Given the description of an element on the screen output the (x, y) to click on. 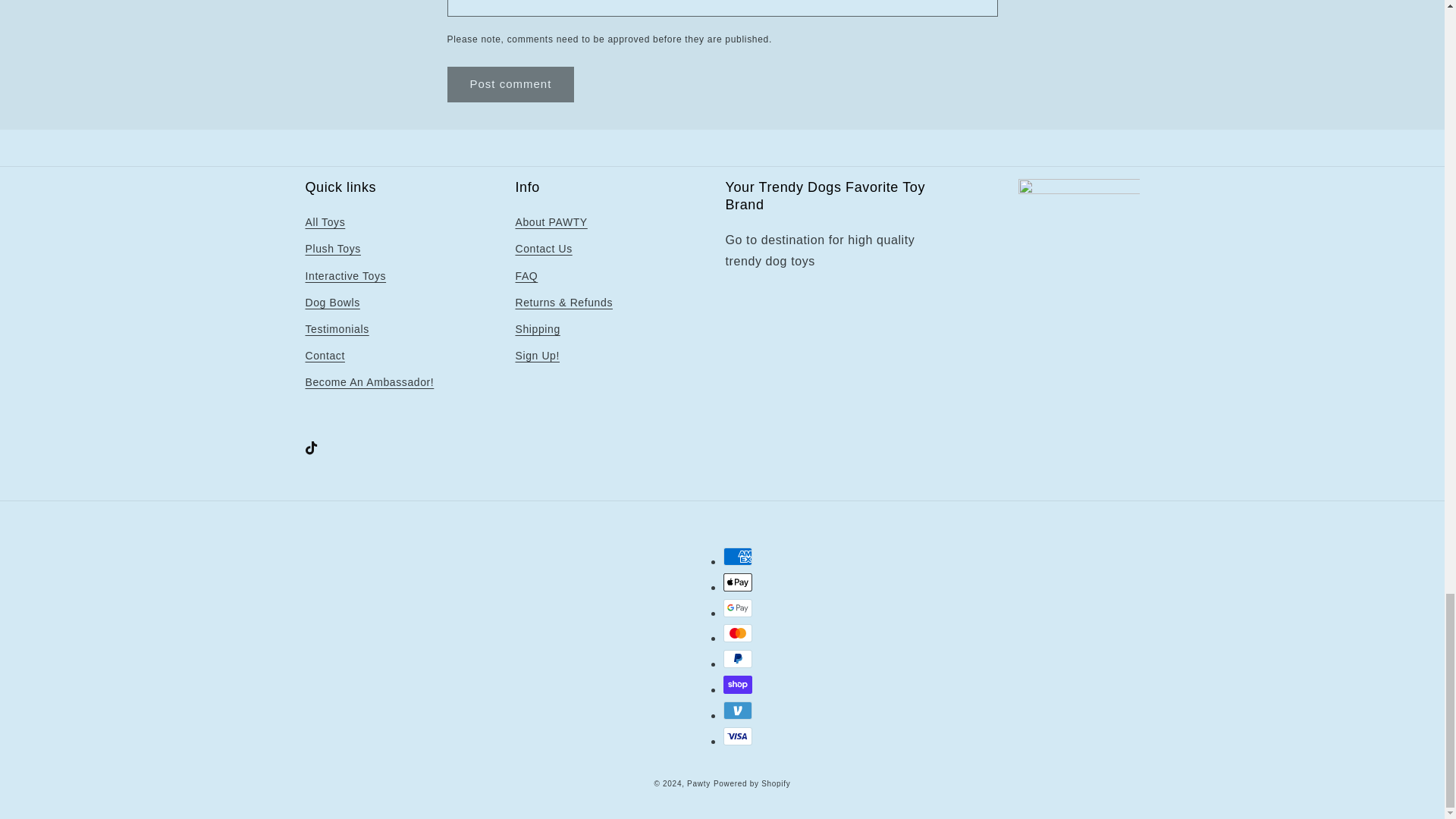
Post comment (510, 84)
Shop Pay (737, 684)
Visa (737, 736)
Plush Toys (331, 248)
Apple Pay (737, 582)
Mastercard (737, 633)
PayPal (737, 659)
Google Pay (737, 607)
American Express (737, 556)
Interactive Toys (344, 275)
All Toys (324, 223)
Venmo (737, 710)
Dog Bowls (331, 302)
Post comment (510, 84)
